Given the description of an element on the screen output the (x, y) to click on. 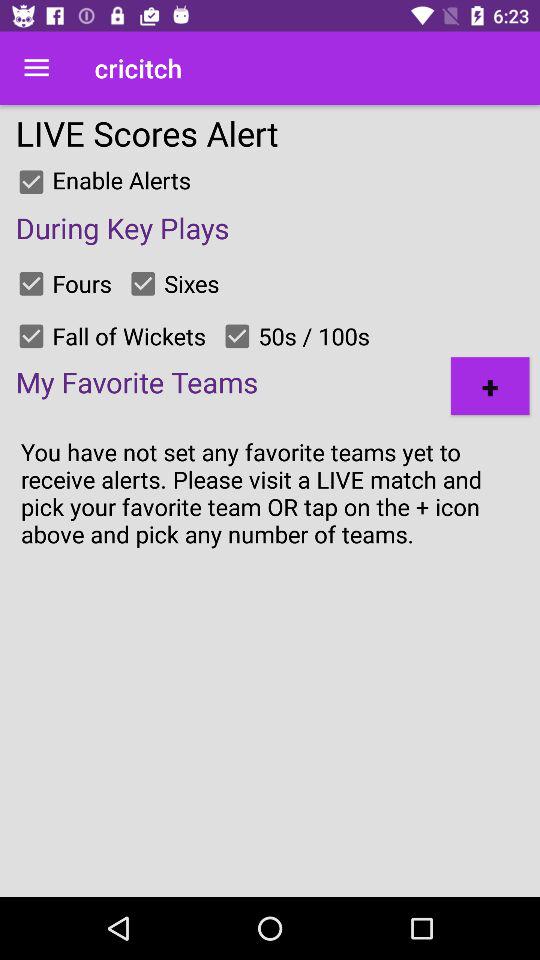
press the item to the left of 50s / 100s item (237, 336)
